Given the description of an element on the screen output the (x, y) to click on. 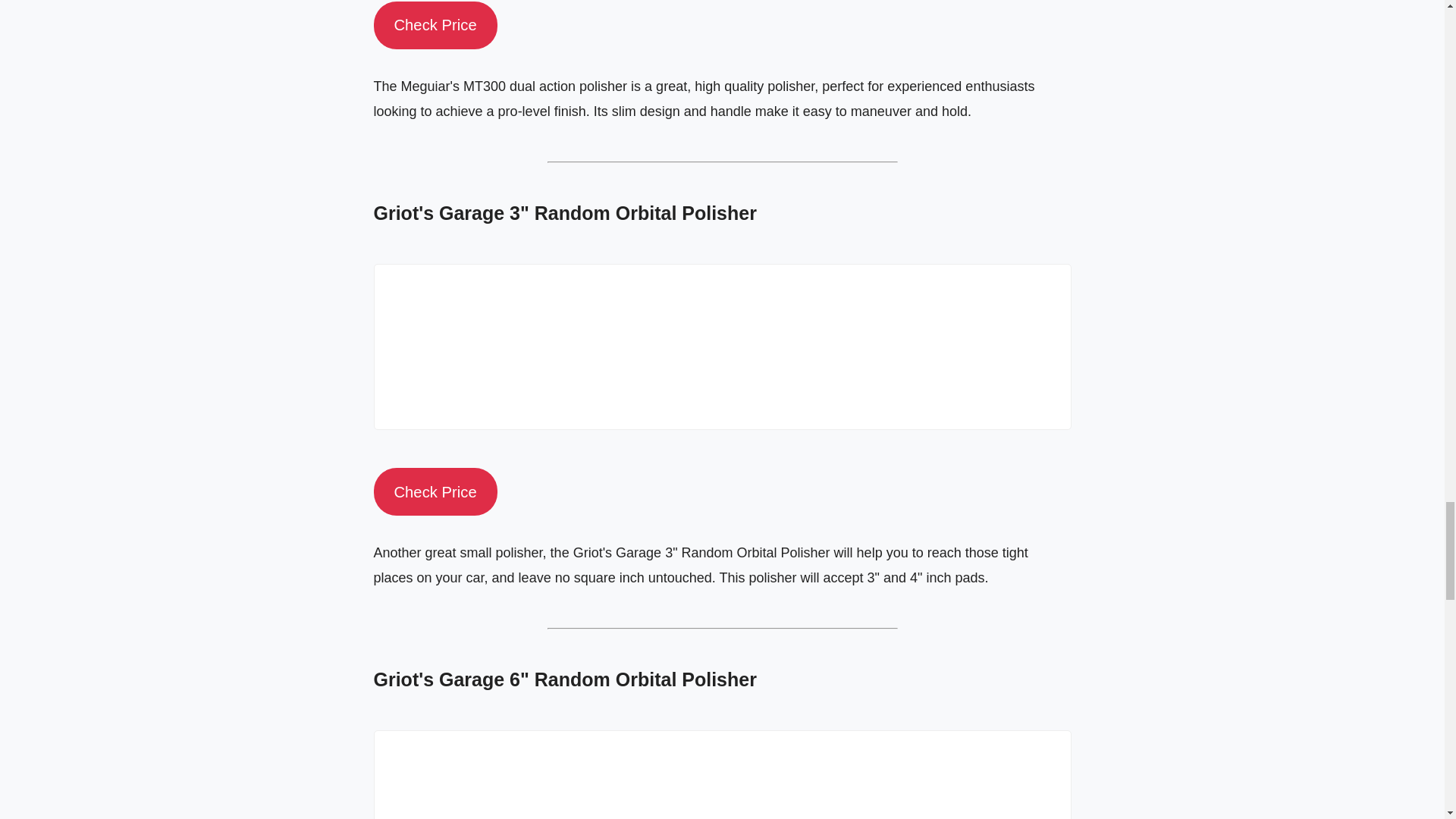
Check Price (434, 25)
Check Price (434, 491)
